Given the description of an element on the screen output the (x, y) to click on. 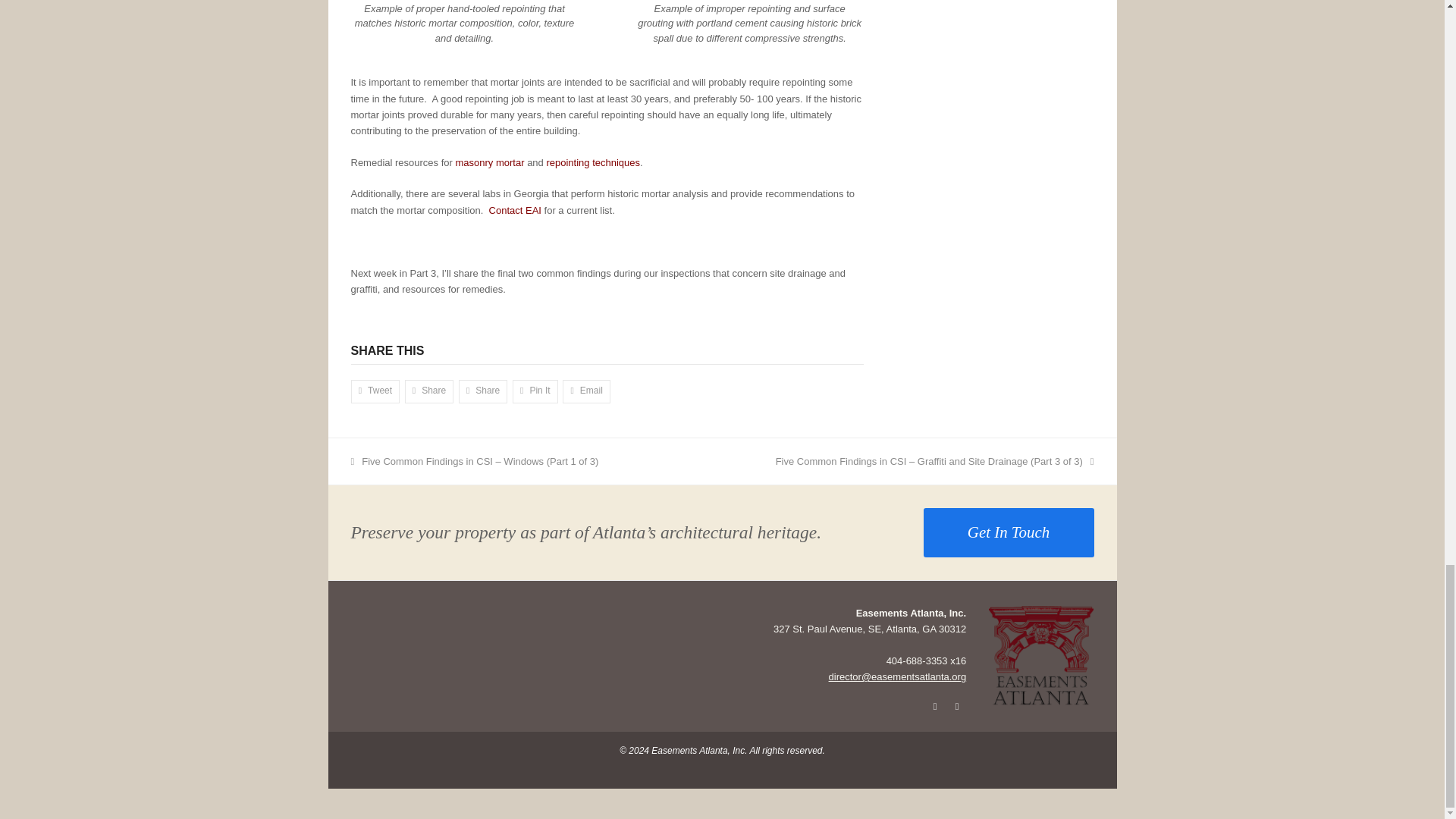
Contact Us (515, 210)
easements-logo (1040, 657)
